Given the description of an element on the screen output the (x, y) to click on. 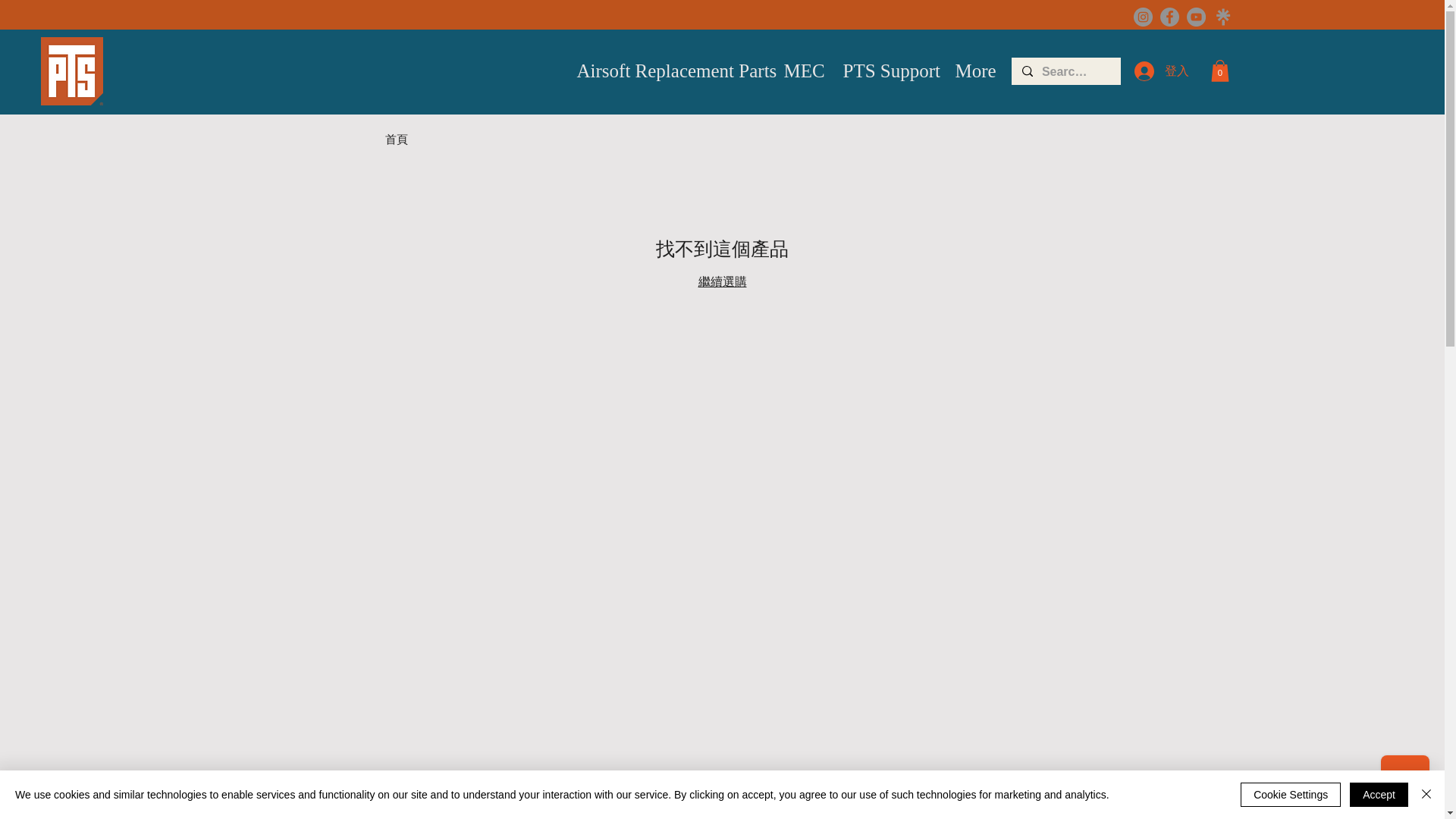
Airsoft Replacement Parts (669, 71)
MEC (801, 71)
PTS Support (886, 71)
